Given the description of an element on the screen output the (x, y) to click on. 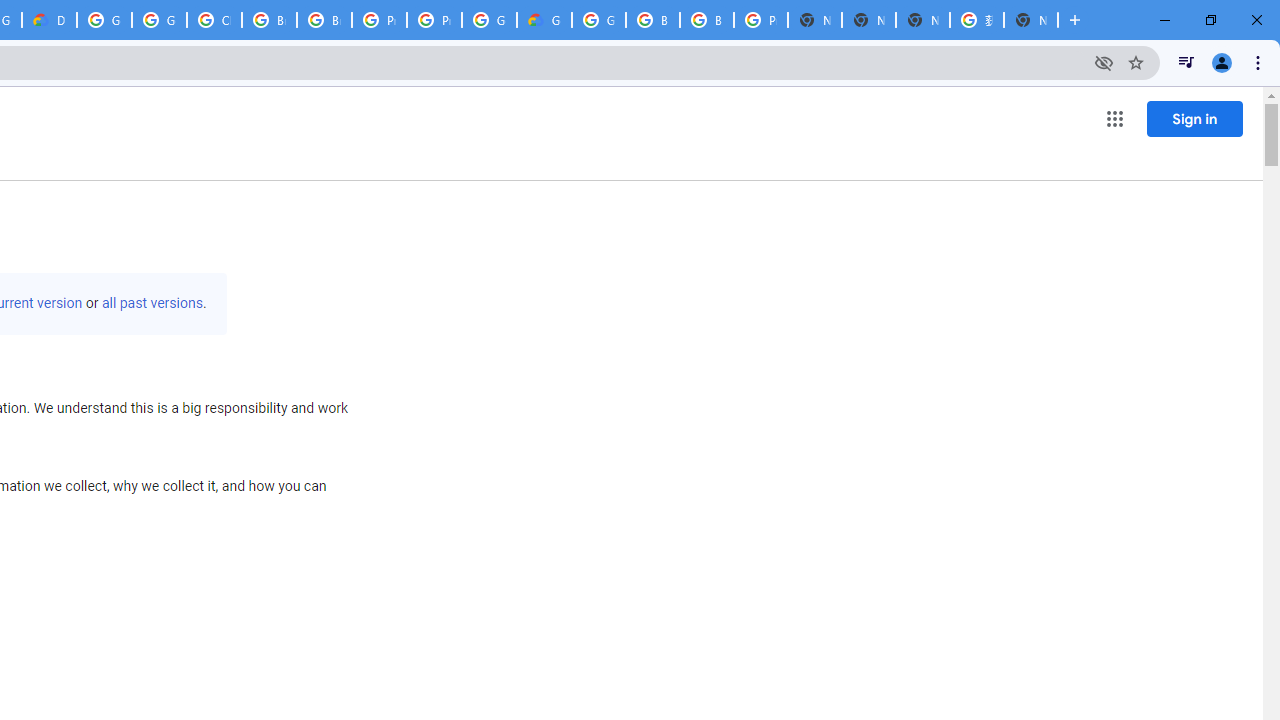
Google Cloud Estimate Summary (544, 20)
Google Cloud Platform (598, 20)
New Tab (1030, 20)
Browse Chrome as a guest - Computer - Google Chrome Help (324, 20)
Google Cloud Platform (489, 20)
all past versions (152, 303)
Browse Chrome as a guest - Computer - Google Chrome Help (652, 20)
New Tab (815, 20)
Browse Chrome as a guest - Computer - Google Chrome Help (706, 20)
